Given the description of an element on the screen output the (x, y) to click on. 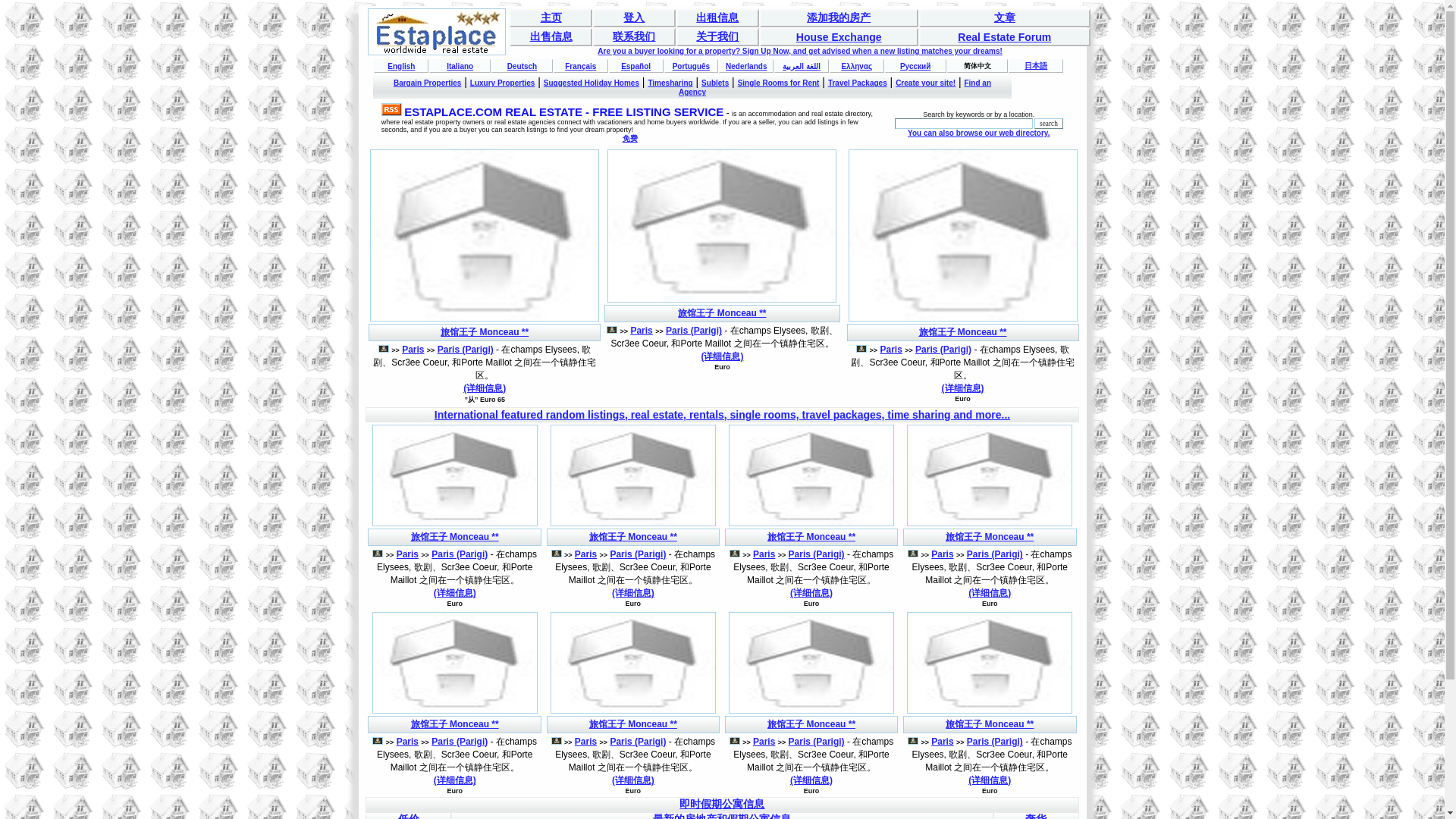
Nederlands (746, 66)
Single Rooms for Rent (778, 82)
Create your site! (925, 82)
Paris (585, 553)
Italiano (459, 66)
Paris (641, 330)
English (400, 66)
Timesharing (670, 82)
Paris (407, 553)
House Exchange (839, 37)
